Given the description of an element on the screen output the (x, y) to click on. 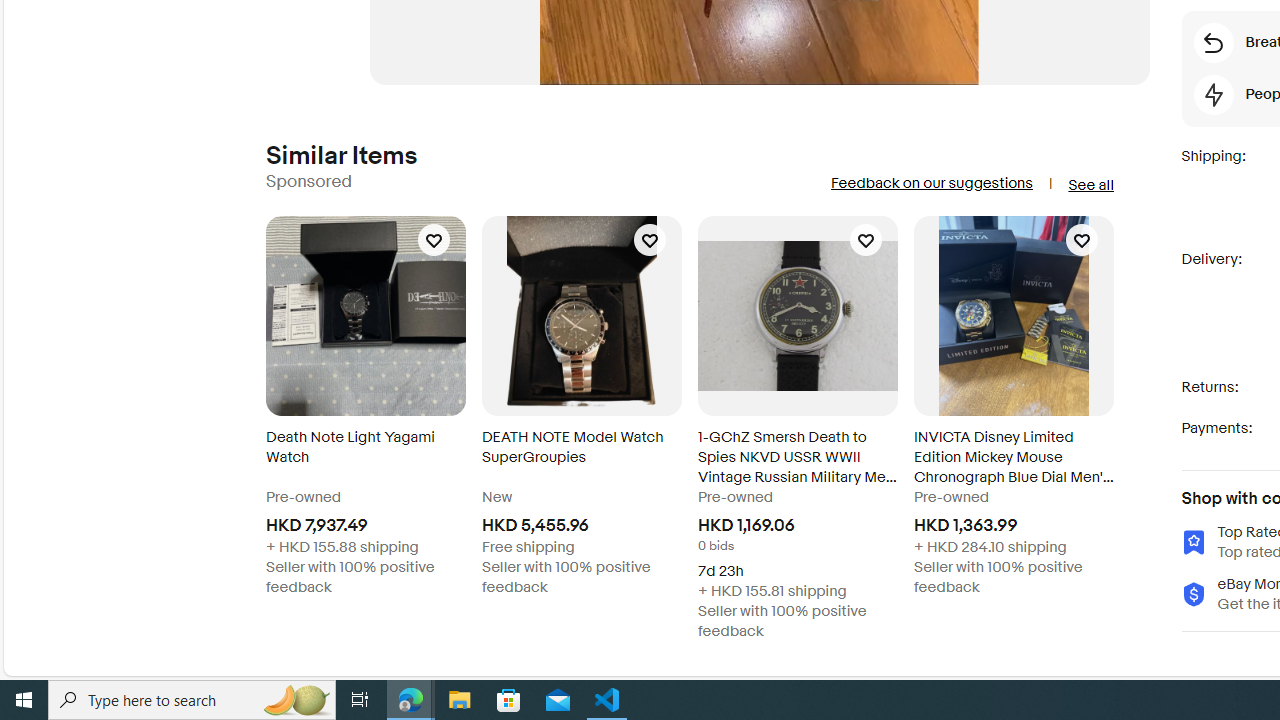
Add DEATH NOTE Model Watch SuperGroupies to your watch list (649, 239)
Add Death Note Light Yagami Watch to your watch list (433, 239)
See all (1090, 184)
Feedback on our suggestions (930, 183)
